Given the description of an element on the screen output the (x, y) to click on. 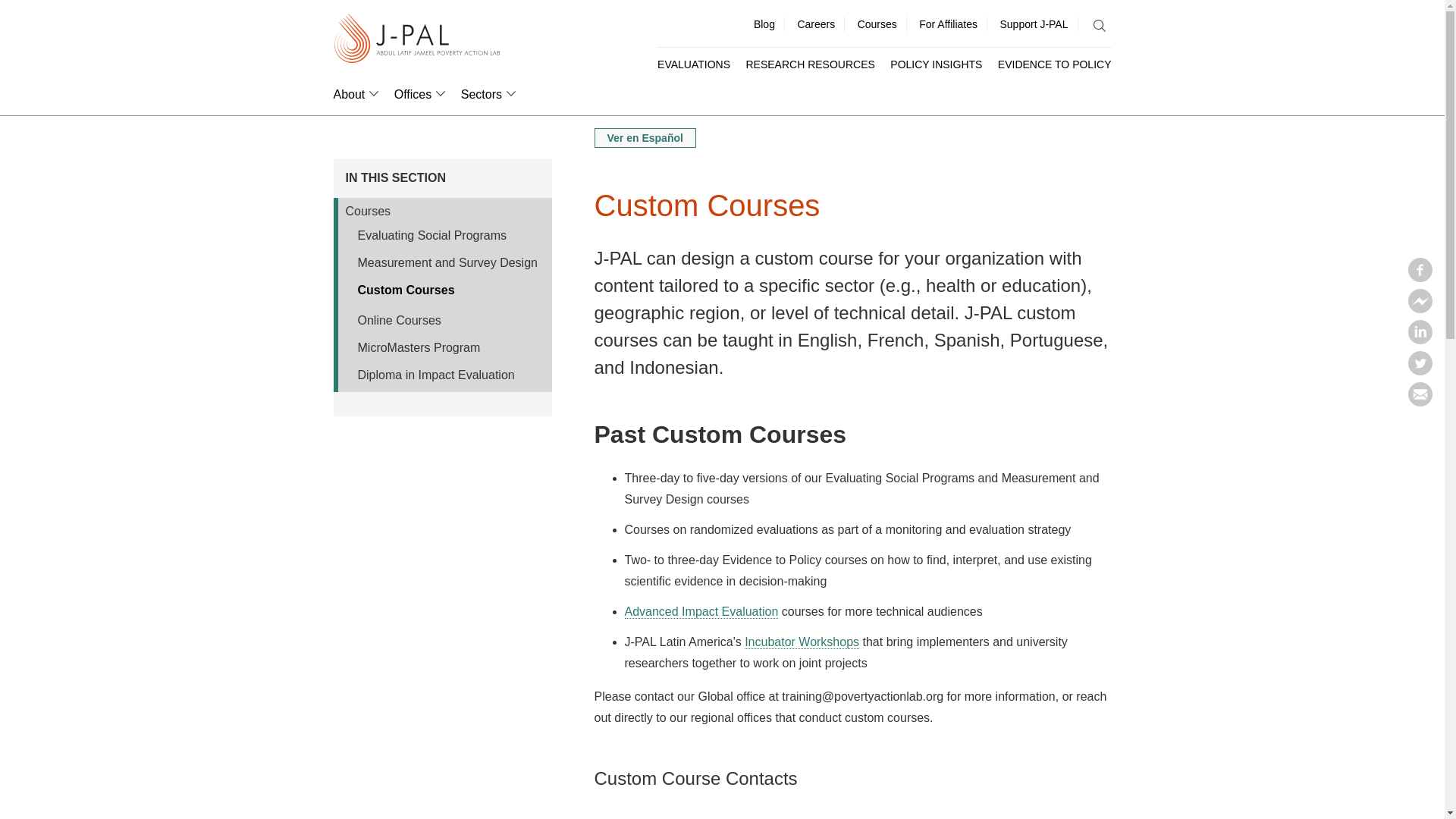
J-PAL (416, 39)
Twitter (1419, 370)
Email (1419, 401)
Facebook (1419, 277)
Linkedin (1419, 339)
Facebook messenger (1419, 308)
